Given the description of an element on the screen output the (x, y) to click on. 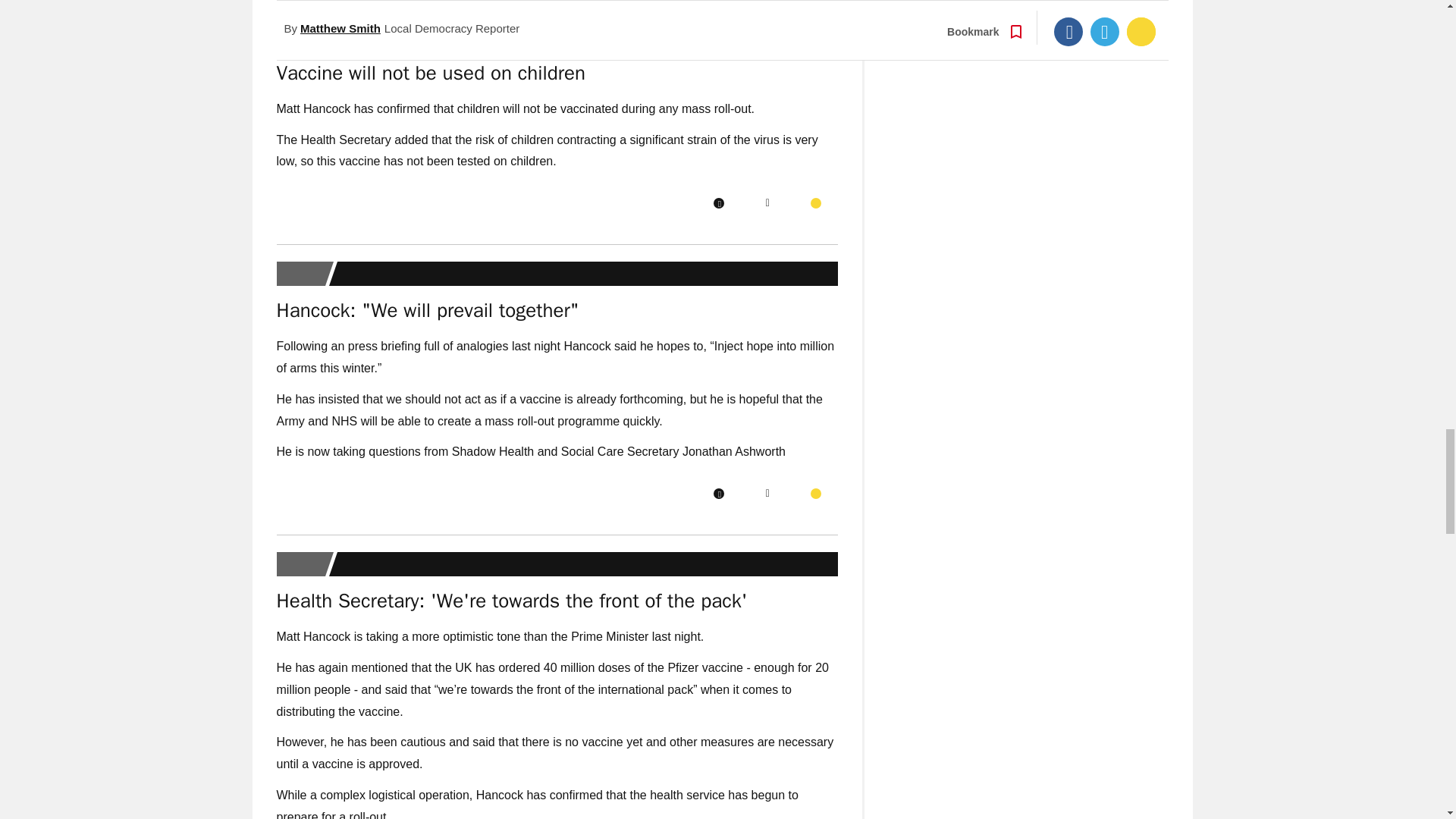
Facebook (718, 203)
Twitter (767, 493)
Facebook (718, 493)
Twitter (767, 203)
